Given the description of an element on the screen output the (x, y) to click on. 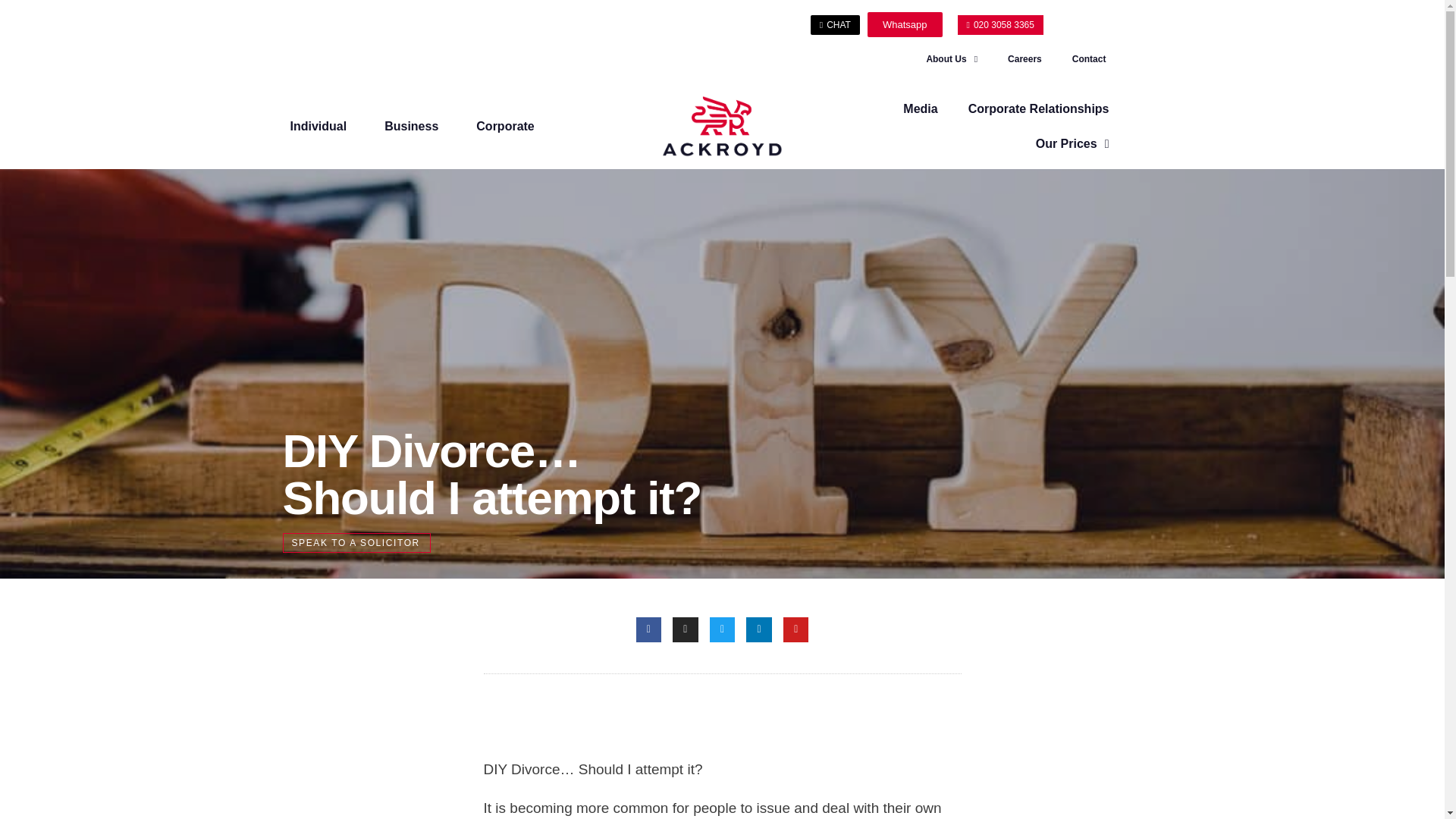
020 3058 3365 (999, 25)
Whatsapp (904, 24)
CHAT (835, 25)
